Given the description of an element on the screen output the (x, y) to click on. 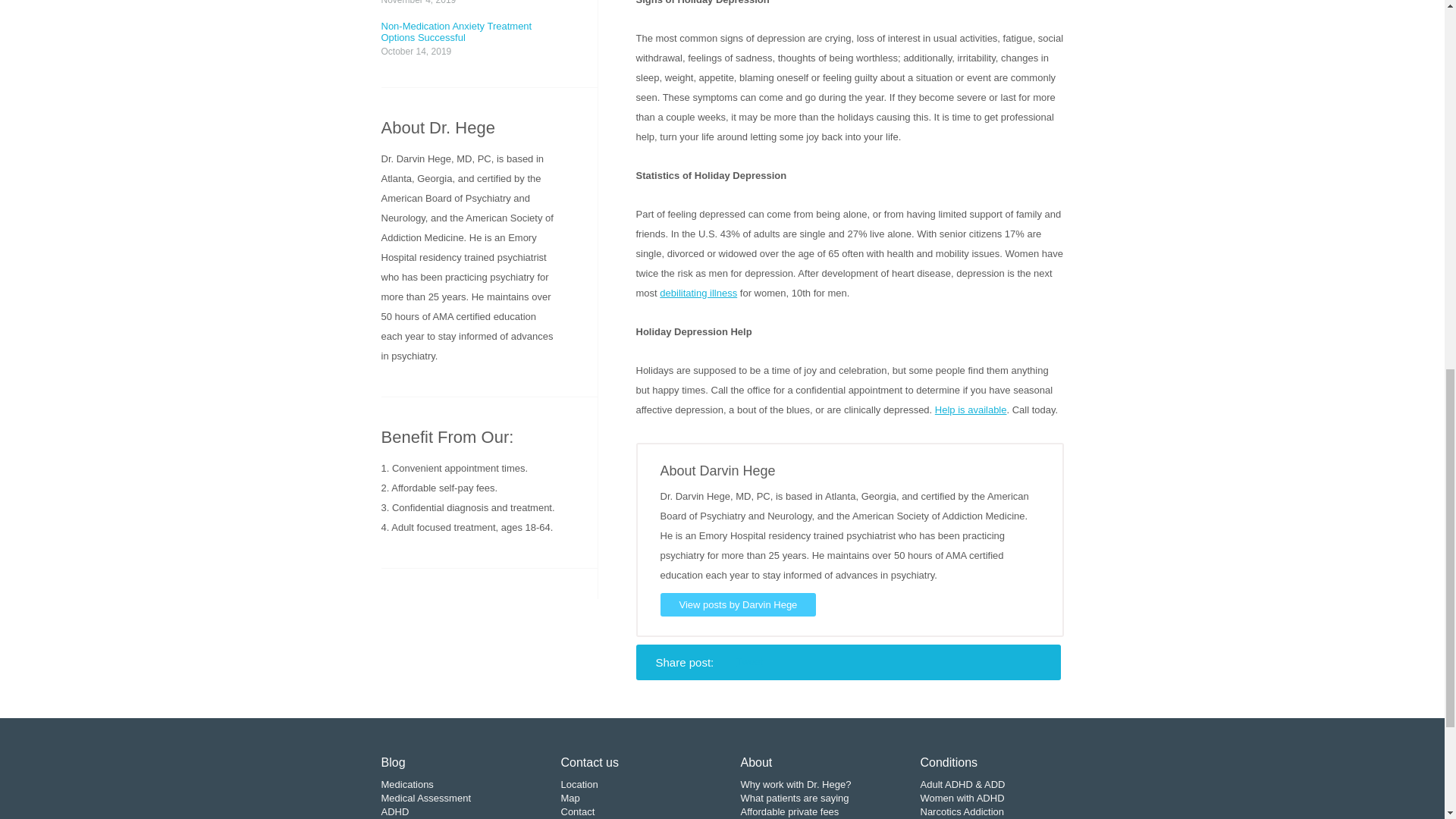
Medical Assessment (425, 797)
debilitating illness (697, 292)
View posts by Darvin Hege (737, 604)
Medications (406, 784)
Tweet (749, 661)
Non-Medication Anxiety Treatment Options Successful (469, 31)
Help is available (970, 409)
ADHD (394, 811)
